Given the description of an element on the screen output the (x, y) to click on. 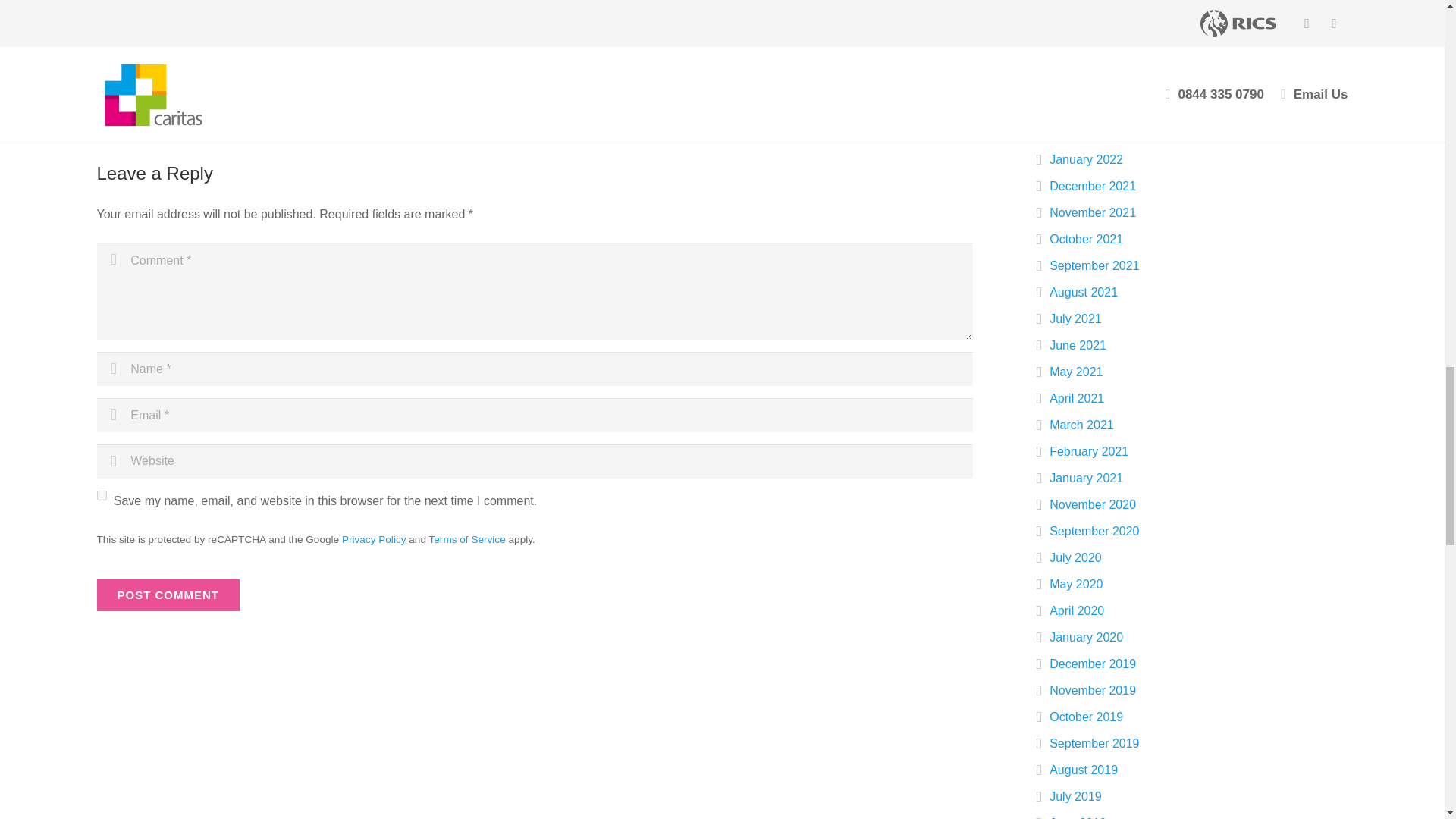
Post Comment (168, 594)
Caritas team member conquers the Thames Path Mighty Hike (263, 97)
yes (101, 495)
Privacy Policy (374, 539)
Post Comment (168, 594)
Terms of Service (467, 539)
